Given the description of an element on the screen output the (x, y) to click on. 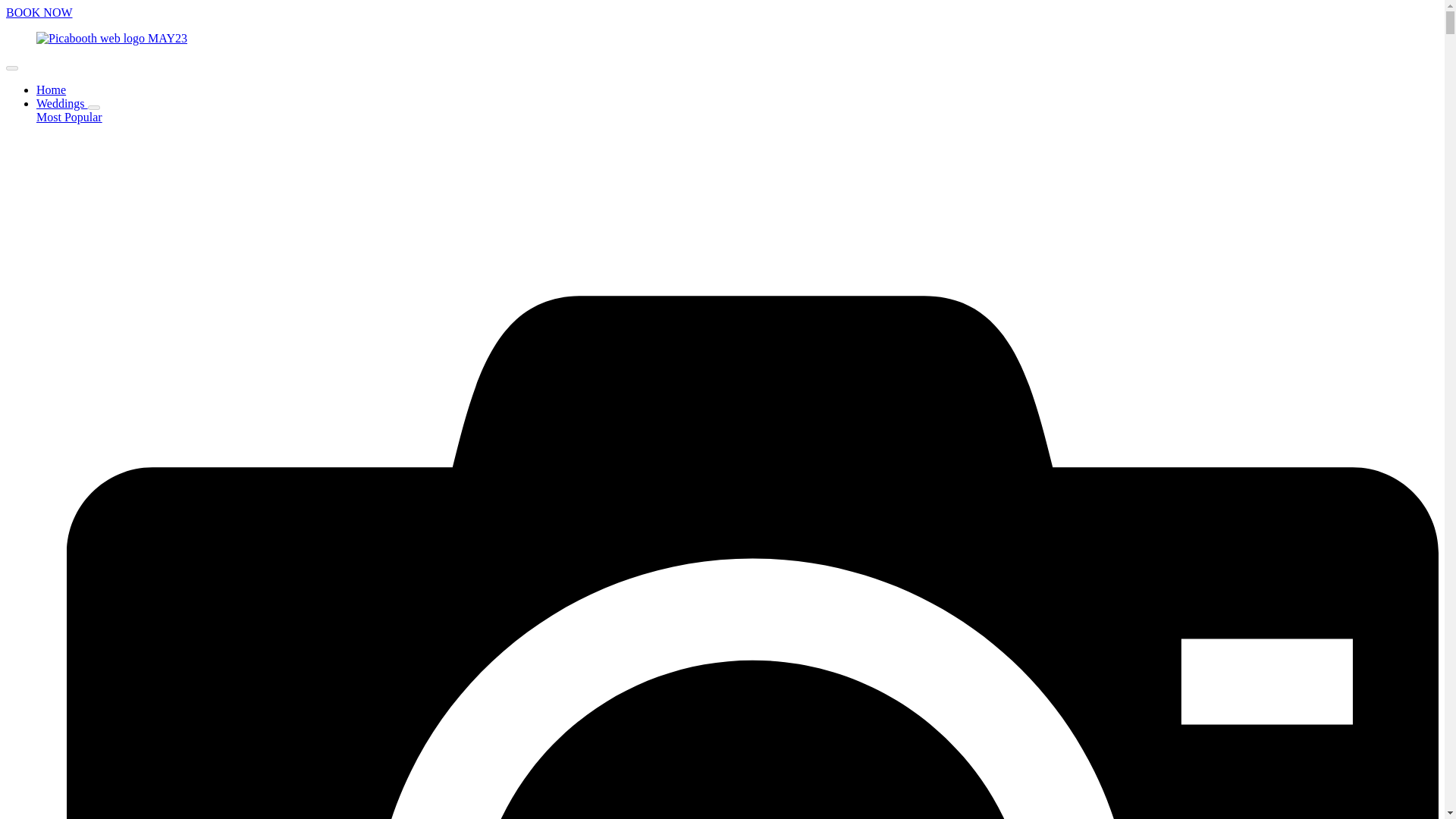
Home (50, 89)
Weddings (61, 103)
BOOK NOW (38, 11)
Most Popular (68, 116)
